Given the description of an element on the screen output the (x, y) to click on. 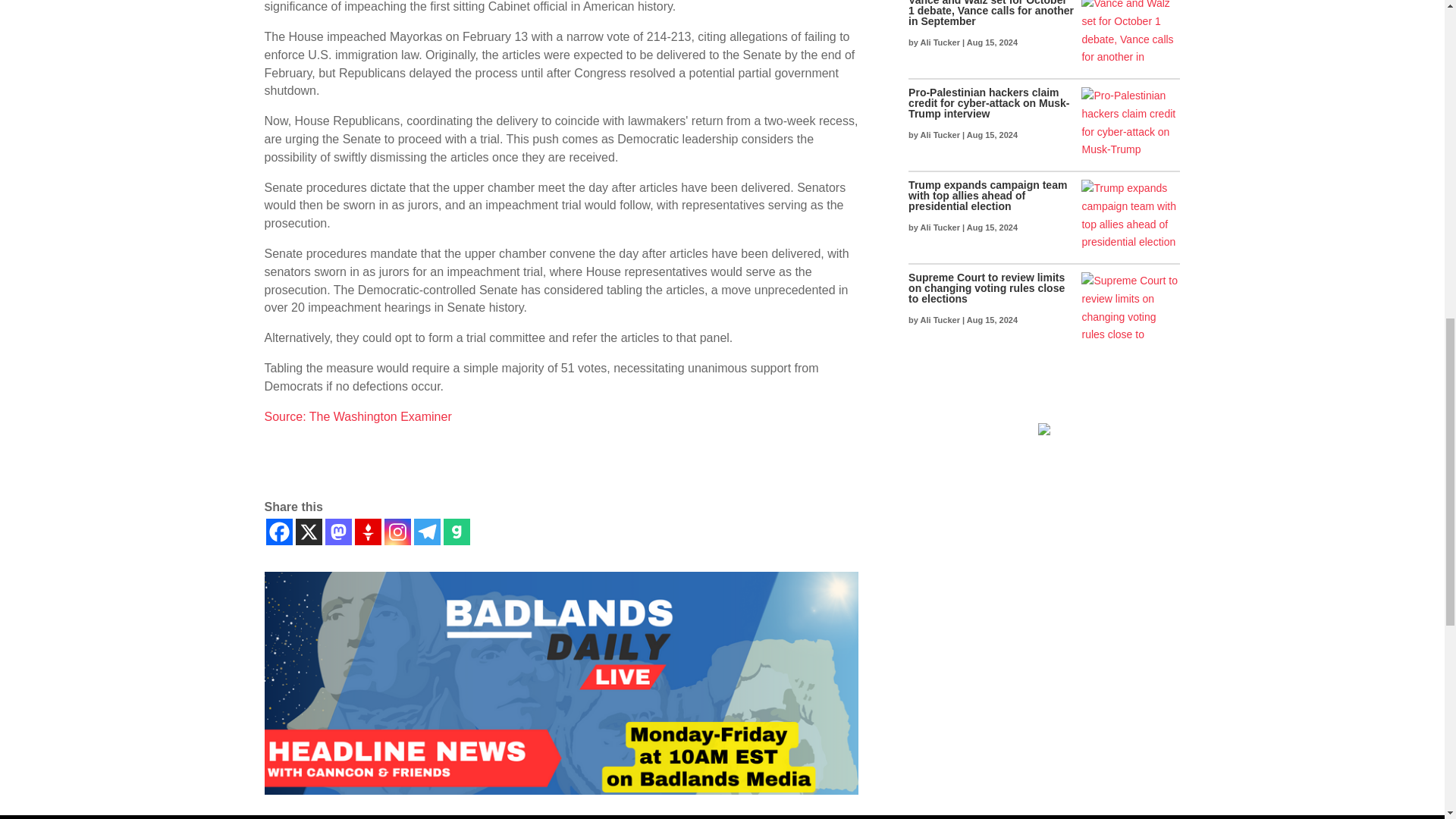
Facebook (278, 531)
X (308, 531)
Telegram (427, 531)
Source: The Washington Examiner (357, 415)
Badlands Daily v2 (560, 682)
Instagram (397, 531)
Mastodon (337, 531)
Gab (455, 531)
Gettr (368, 531)
